Given the description of an element on the screen output the (x, y) to click on. 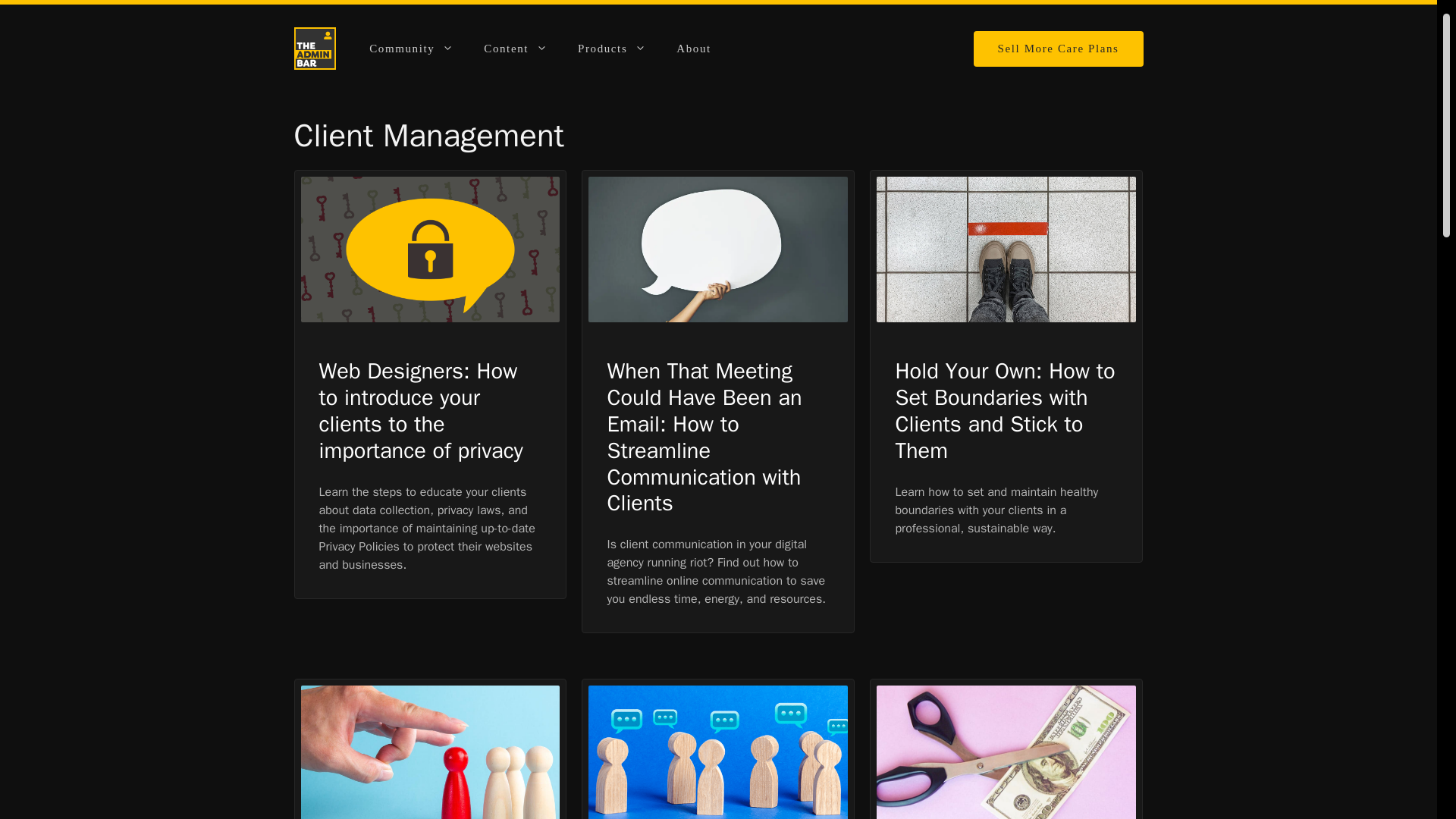
Products (611, 48)
Content (515, 48)
Community (410, 48)
Sell More Care Plans (1058, 48)
About (693, 48)
